Given the description of an element on the screen output the (x, y) to click on. 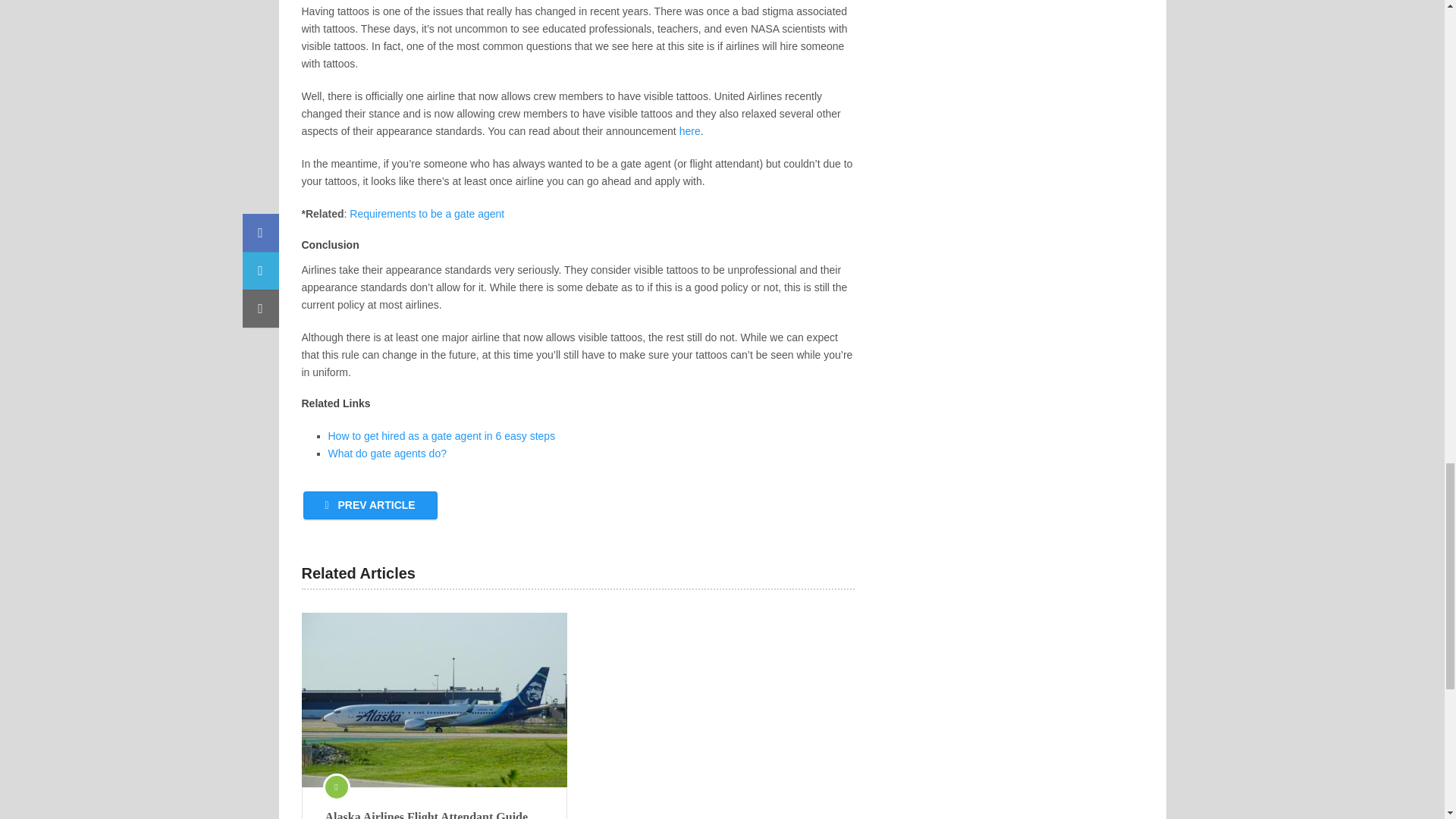
here (689, 131)
How to get hired as a gate agent in 6 easy steps (440, 435)
PREV ARTICLE (370, 505)
Requirements to be a gate agent (426, 214)
What do gate agents do? (386, 453)
